Given the description of an element on the screen output the (x, y) to click on. 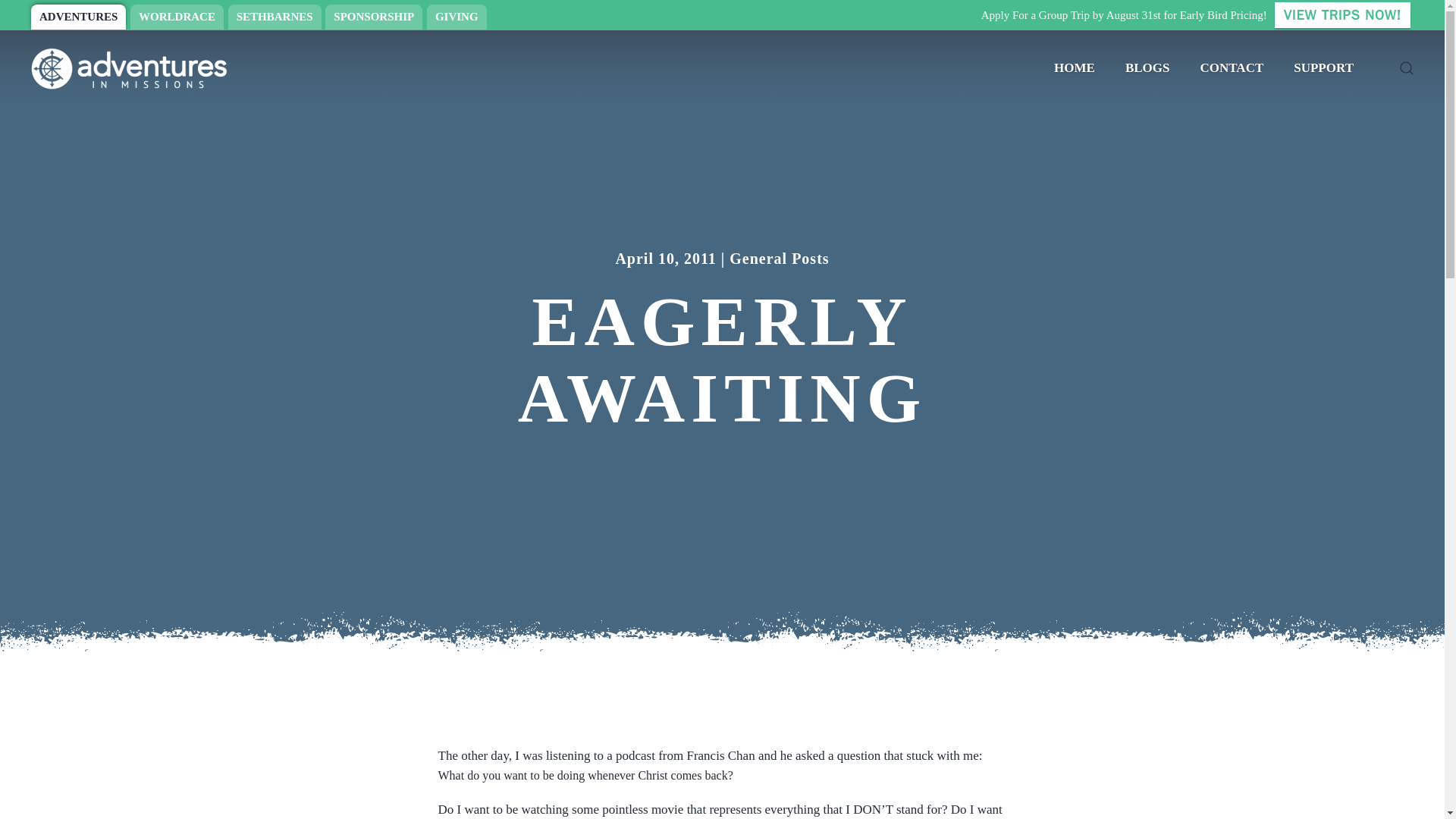
SETHBARNES (274, 16)
SUPPORT (1323, 68)
ADVENTURES (77, 16)
GIVING (456, 16)
VIEW TRIPS NOW! (1342, 14)
SPONSORSHIP (373, 16)
CONTACT (1231, 68)
WORLDRACE (177, 16)
HOME (1074, 68)
BLOGS (1147, 68)
General Posts (778, 258)
